Given the description of an element on the screen output the (x, y) to click on. 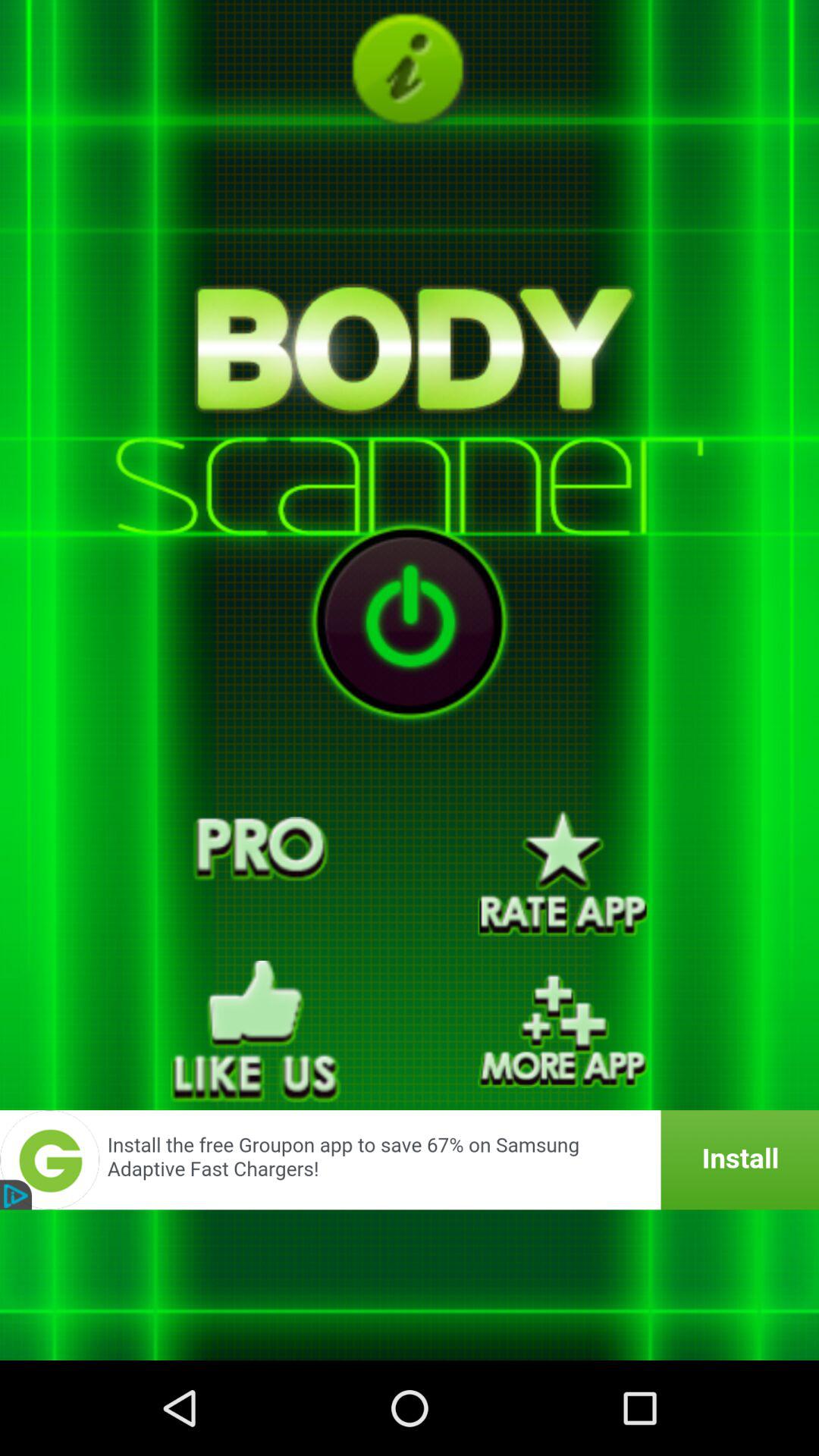
rate the app (562, 873)
